Given the description of an element on the screen output the (x, y) to click on. 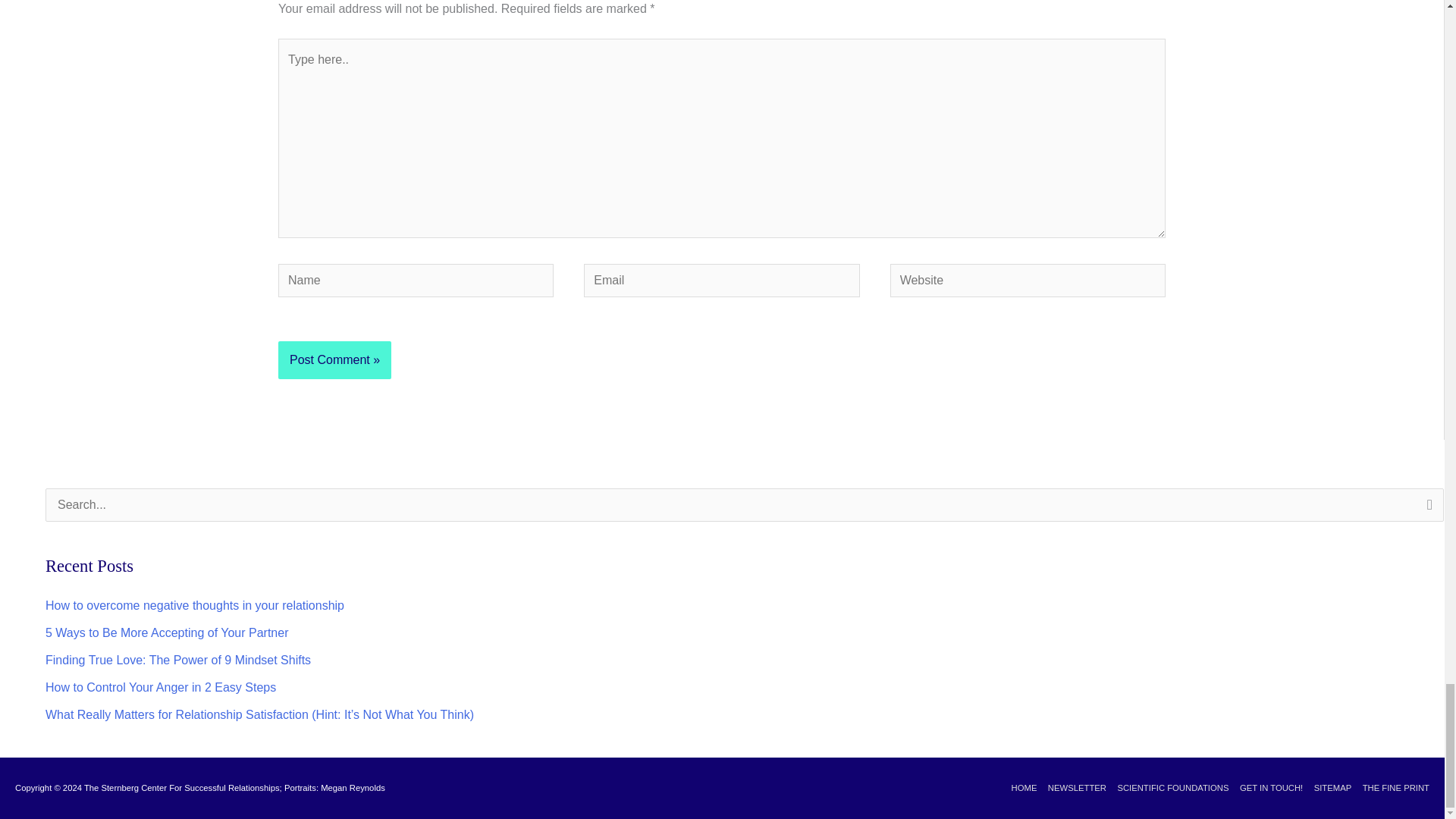
NEWSLETTER (1072, 787)
SITEMAP (1327, 787)
How to overcome negative thoughts in your relationship (194, 604)
GET IN TOUCH! (1267, 787)
Finding True Love: The Power of 9 Mindset Shifts (178, 659)
5 Ways to Be More Accepting of Your Partner (166, 632)
HOME (1019, 787)
THE FINE PRINT (1391, 787)
SCIENTIFIC FOUNDATIONS (1168, 787)
How to Control Your Anger in 2 Easy Steps (160, 686)
